Given the description of an element on the screen output the (x, y) to click on. 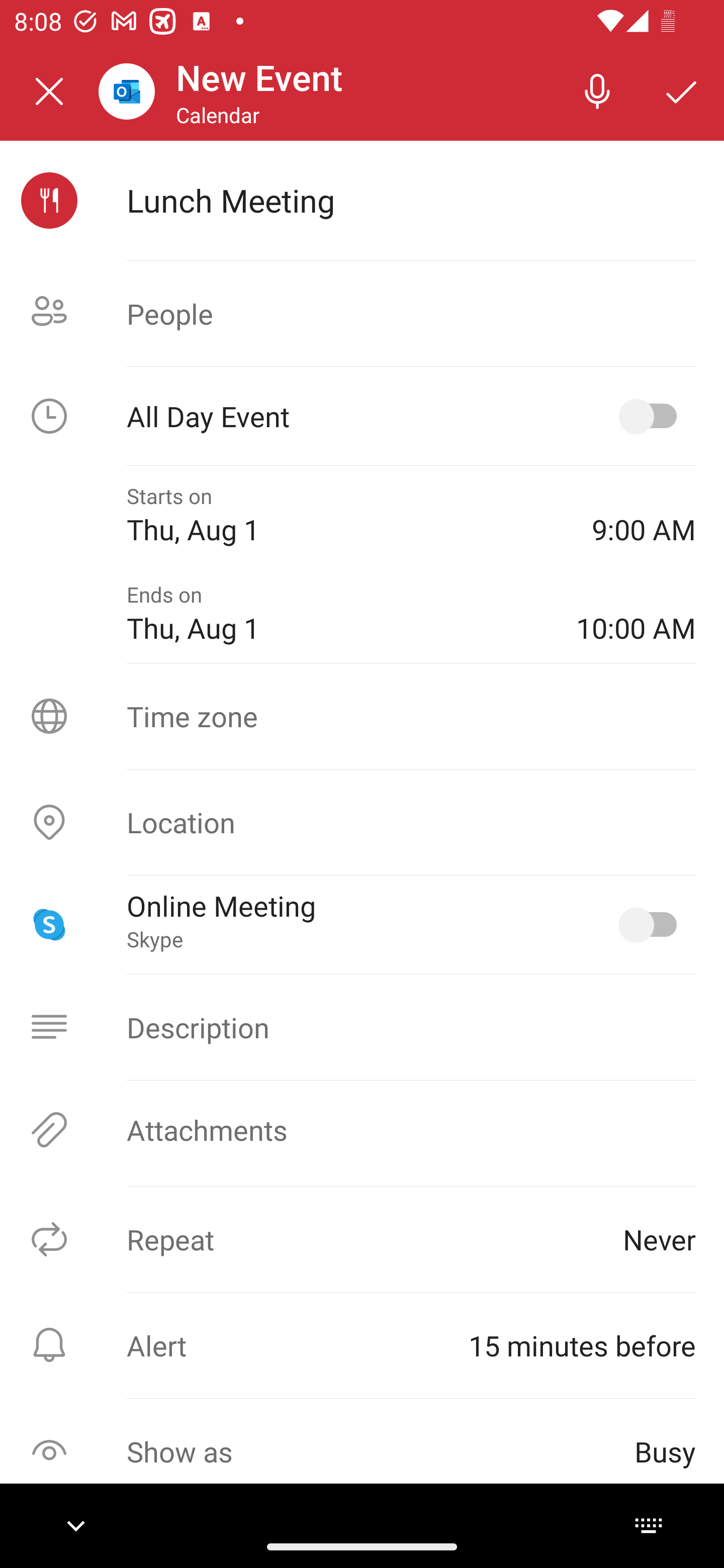
Close (49, 91)
Save (681, 90)
Lunch Meeting (410, 200)
lunch selected, event icon picker (48, 200)
People (362, 313)
All Day Event (362, 415)
Starts on Thu, Aug 1 (344, 514)
9:00 AM (643, 514)
Ends on Thu, Aug 1 (336, 613)
10:00 AM (635, 613)
Time zone (362, 715)
Location (362, 821)
Online Meeting, Skype selected (651, 923)
Description (362, 1026)
Attachments (362, 1129)
Repeat Never (362, 1239)
Alert ⁨15 minutes before (362, 1345)
Show as Busy (362, 1450)
